Given the description of an element on the screen output the (x, y) to click on. 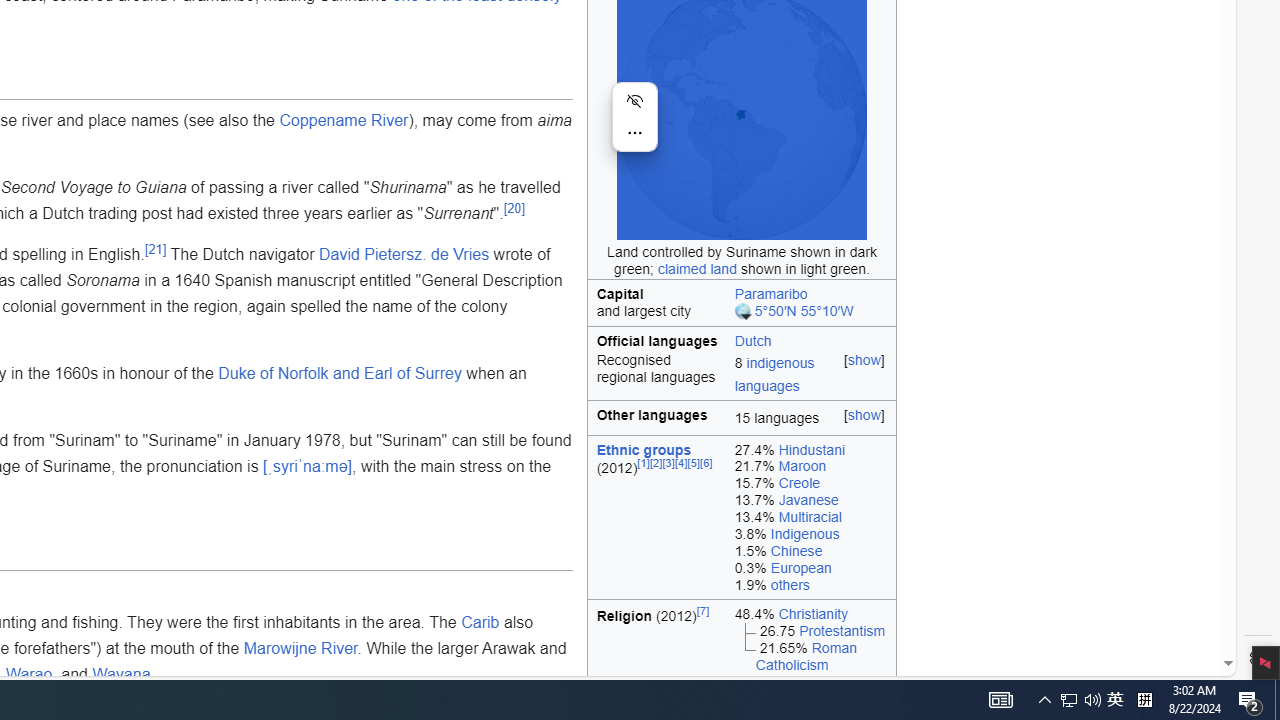
Show location on an interactive map (744, 312)
1.5% Chinese (810, 551)
Marowijne River (300, 647)
15.7% Creole (810, 484)
Javanese (808, 500)
26.75 Protestantism (810, 631)
Duke of Norfolk and Earl of Surrey (339, 373)
European (801, 567)
Mini menu on text selection (634, 129)
Mini menu on text selection (634, 116)
Creole (799, 483)
claimed land (697, 268)
